Given the description of an element on the screen output the (x, y) to click on. 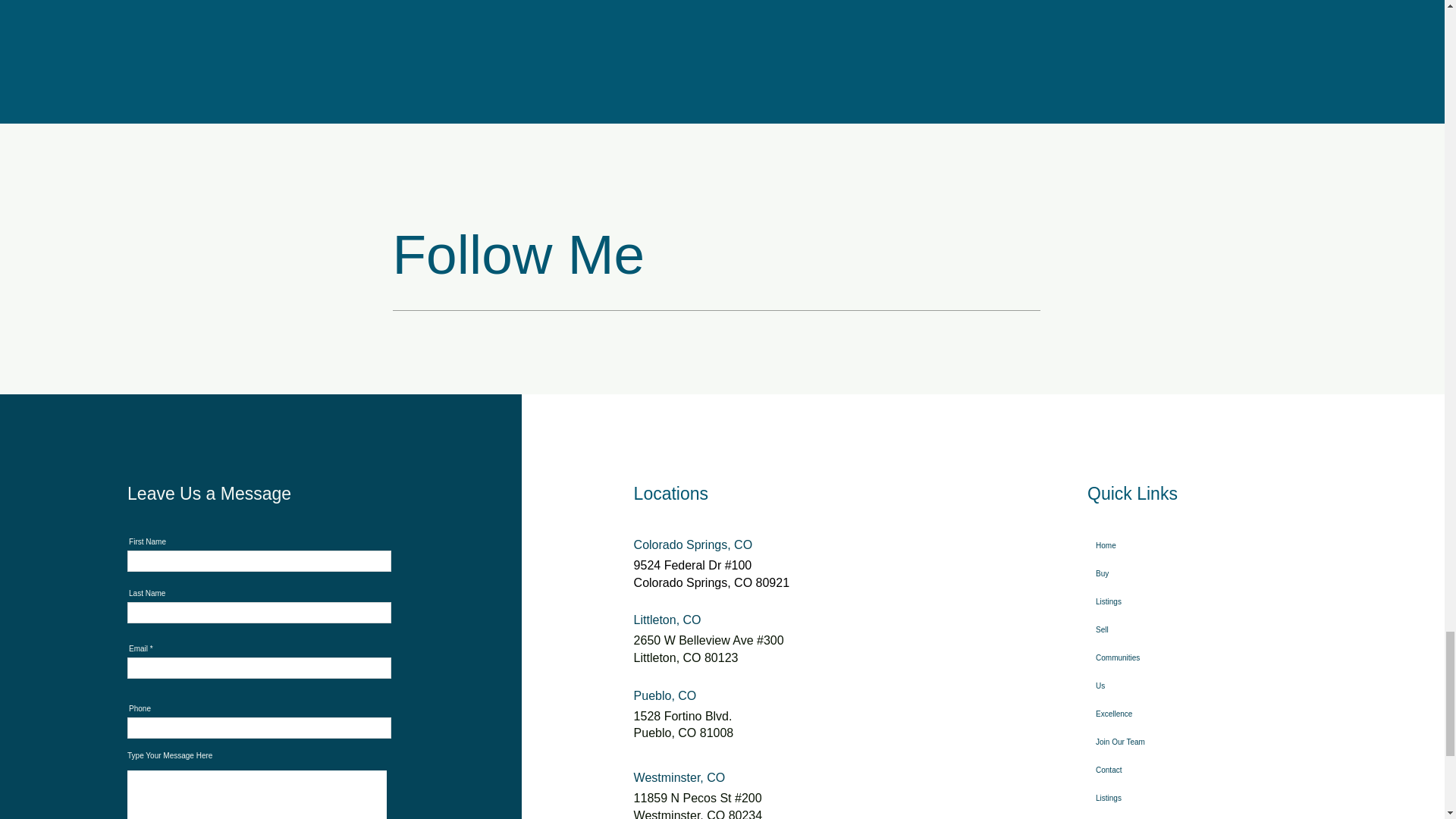
Buy (1138, 573)
Home (1138, 545)
Communities (1138, 657)
Sell (1138, 629)
Listings (1138, 797)
Contact (1138, 769)
Excellence (1138, 714)
Us (1138, 685)
Listings (1138, 601)
Join Our Team (1138, 741)
